Given the description of an element on the screen output the (x, y) to click on. 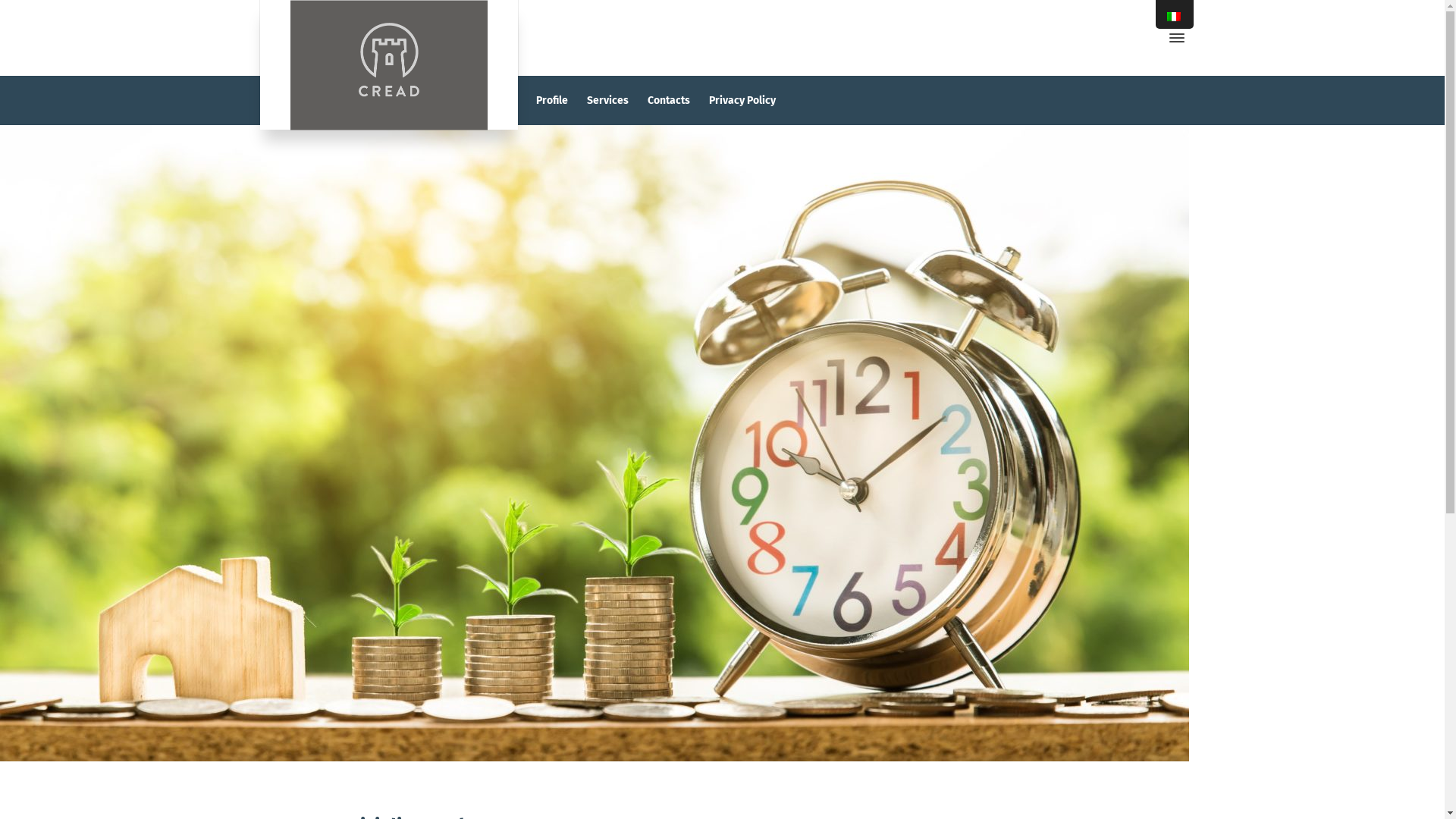
Italiano Element type: hover (1173, 16)
Profile Element type: text (552, 100)
Services Element type: text (607, 100)
CREAD Srl Element type: hover (388, 64)
Privacy Policy Element type: text (742, 100)
Contacts Element type: text (668, 100)
